Given the description of an element on the screen output the (x, y) to click on. 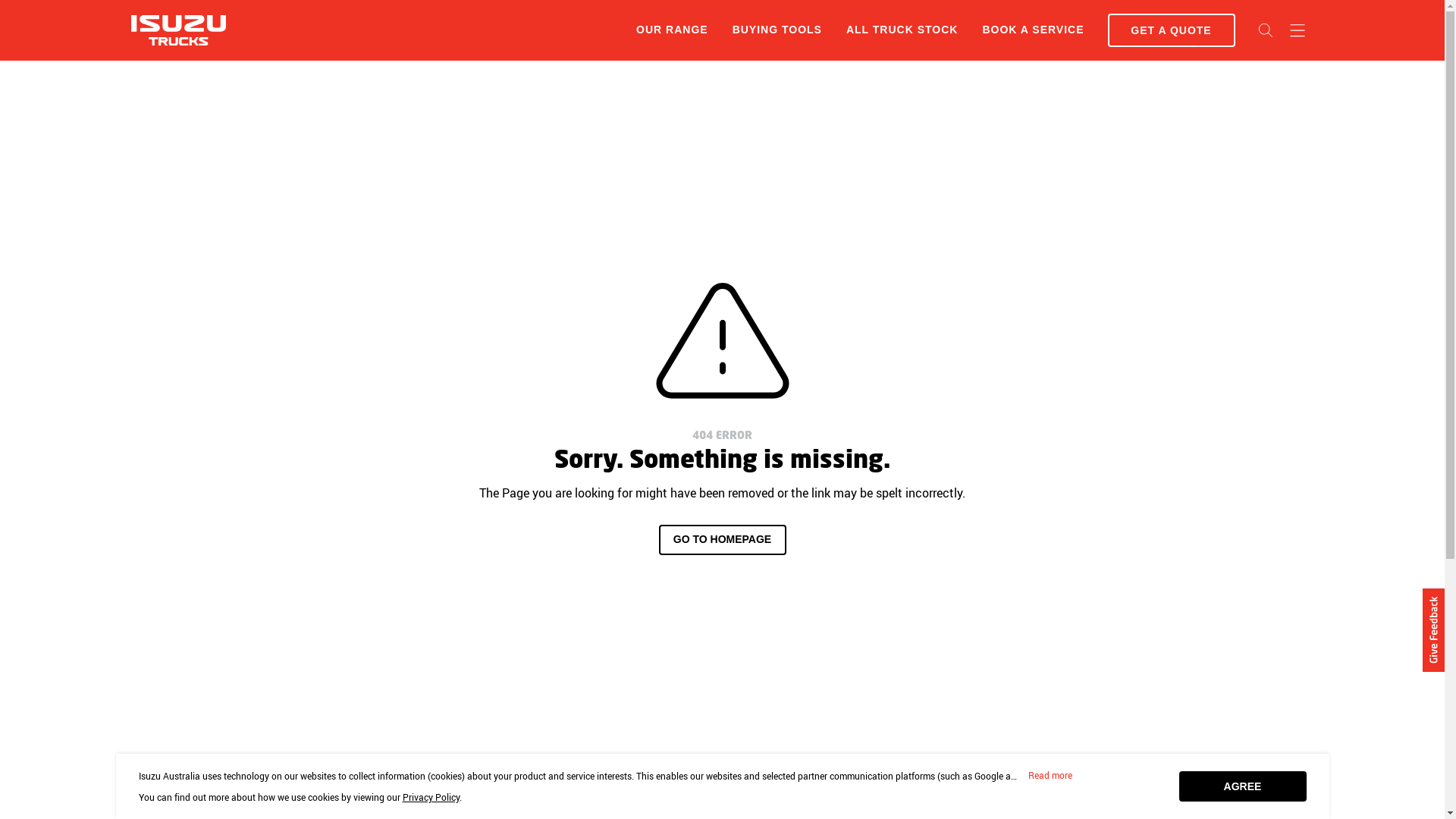
GO TO HOMEPAGE Element type: text (721, 539)
Privacy Policy Element type: text (429, 796)
BUYING TOOLS Element type: text (777, 30)
OUR RANGE Element type: text (672, 29)
BOOK A SERVICE Element type: text (1032, 30)
AGREE Element type: text (1241, 786)
ALL TRUCK STOCK Element type: text (901, 30)
GET A QUOTE Element type: text (1170, 30)
Read more Element type: text (1049, 775)
